Given the description of an element on the screen output the (x, y) to click on. 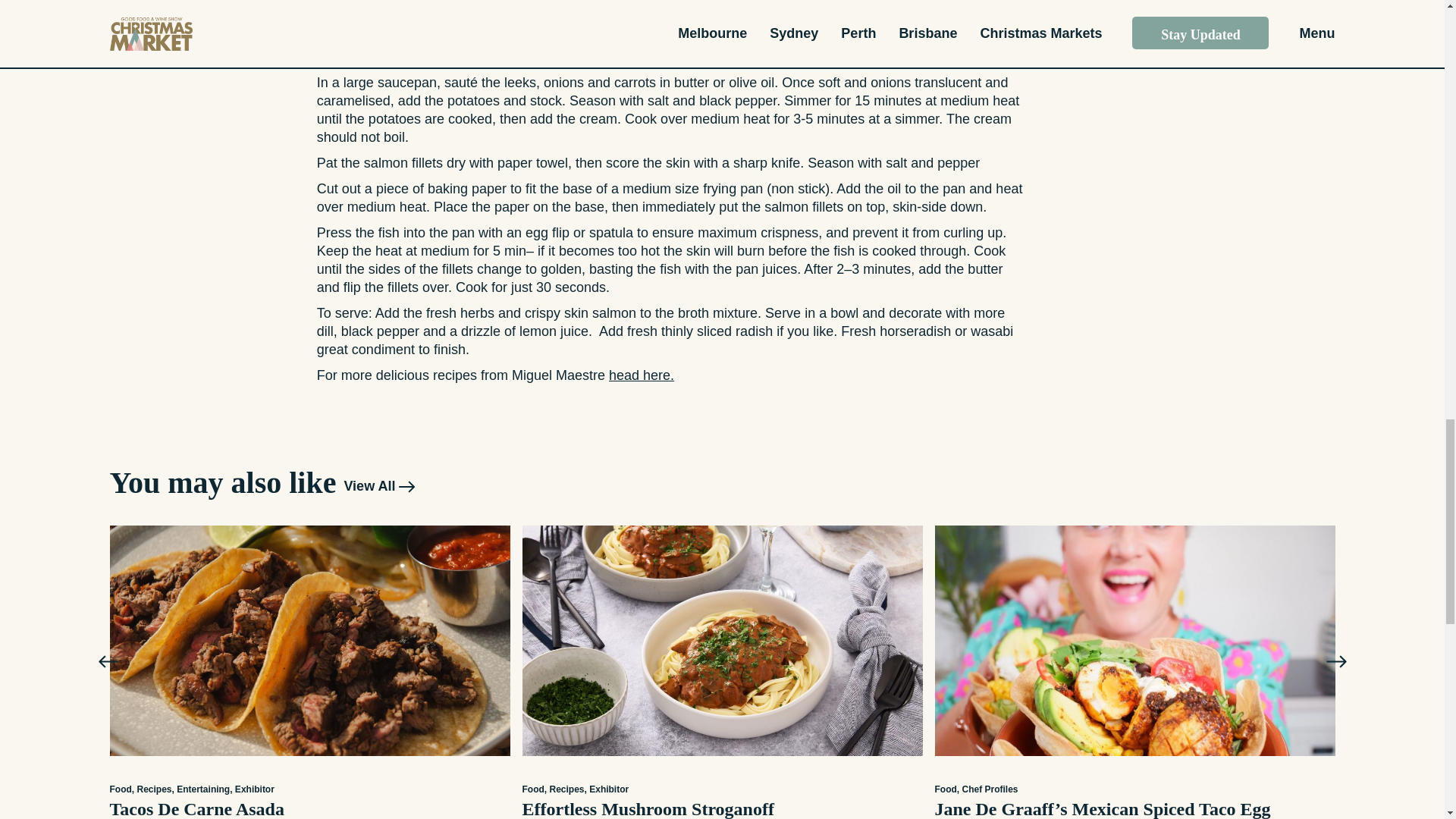
View All (378, 485)
head here. (641, 375)
